Given the description of an element on the screen output the (x, y) to click on. 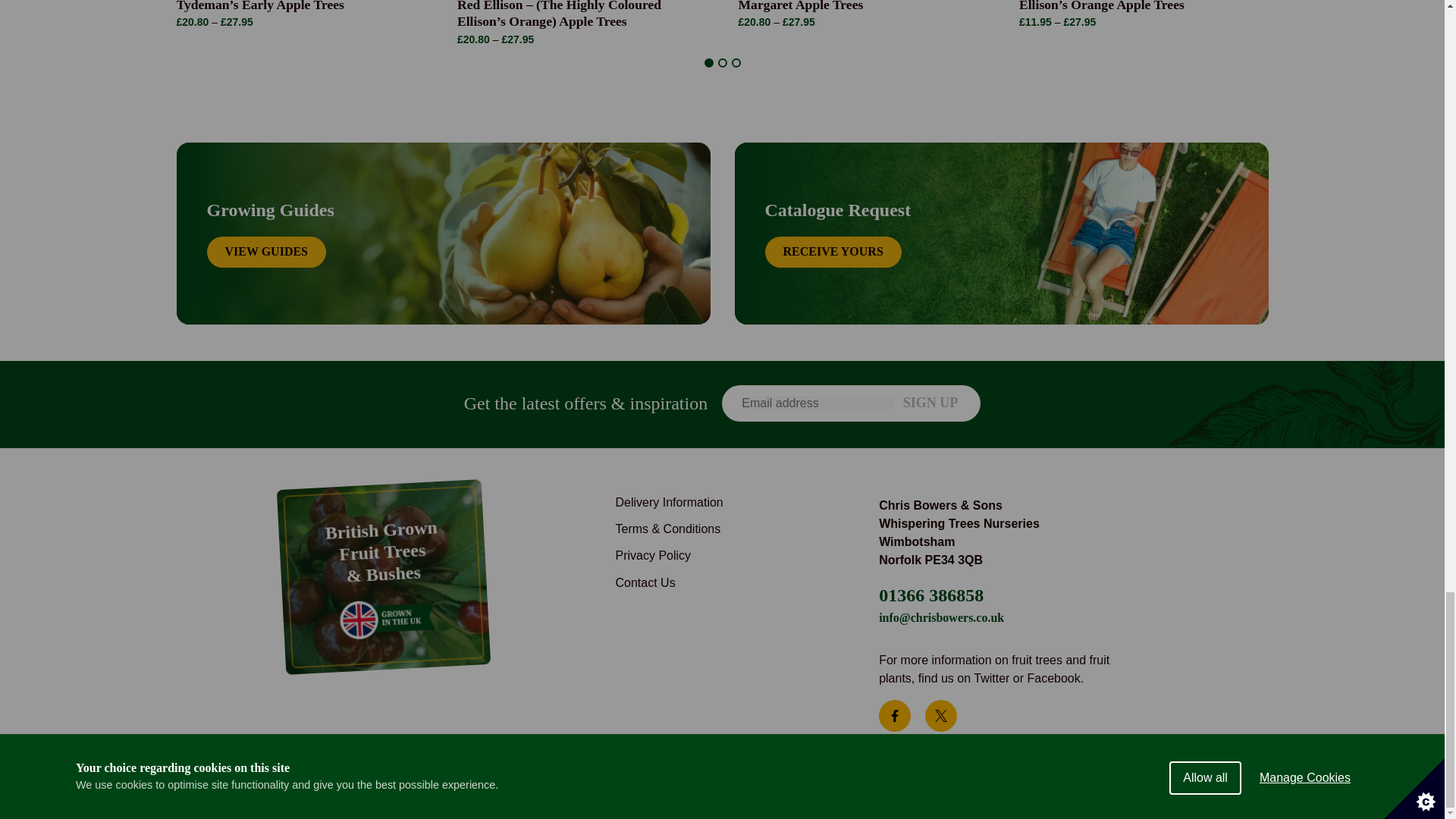
grown-in-the-uk-badge (384, 616)
